Given the description of an element on the screen output the (x, y) to click on. 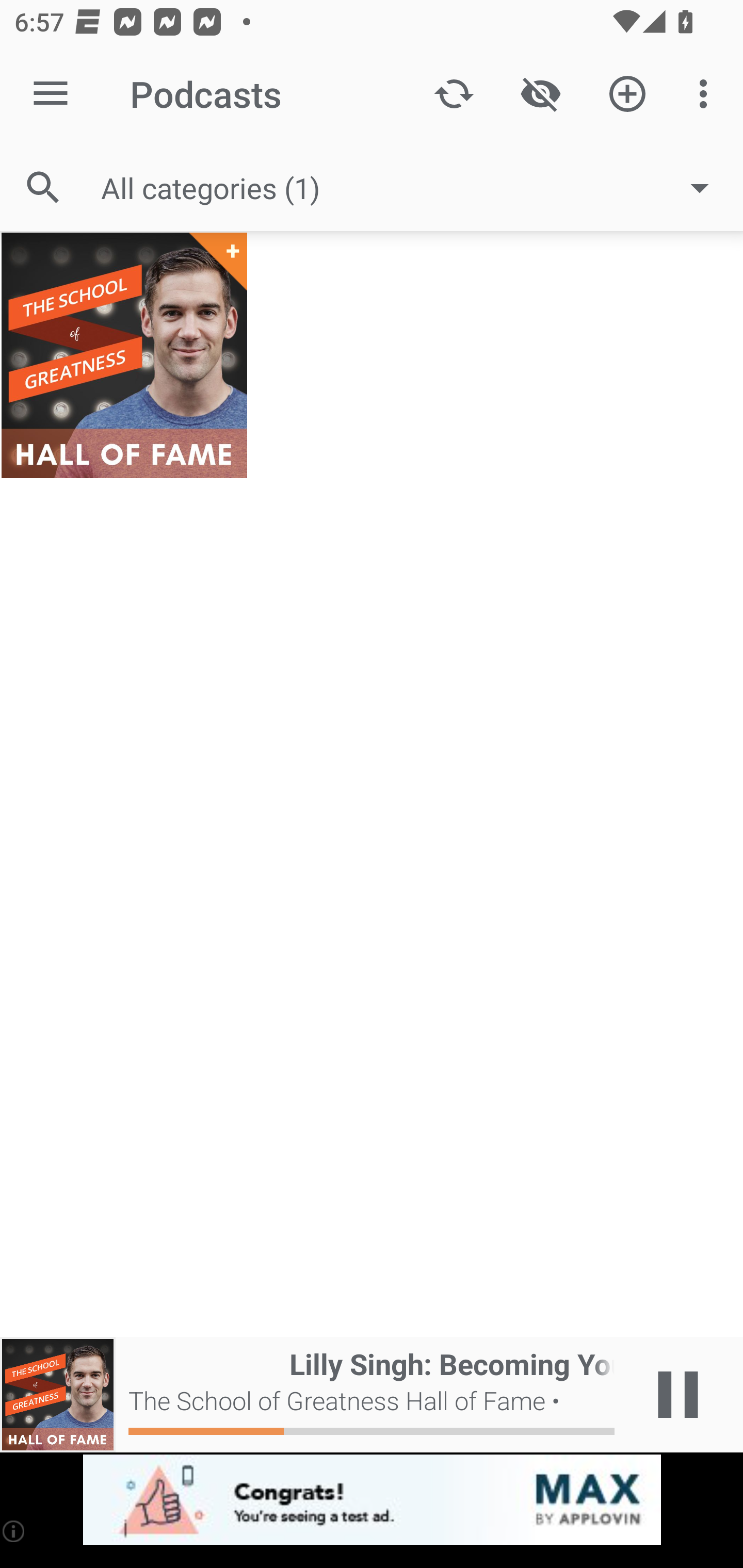
Open navigation sidebar (50, 93)
Update (453, 93)
Show / Hide played content (540, 93)
Add new Podcast (626, 93)
More options (706, 93)
Search (43, 187)
All categories (1) (414, 188)
The School of Greatness Hall of Fame + (124, 355)
Play / Pause (677, 1394)
app-monetization (371, 1500)
(i) (14, 1531)
